Given the description of an element on the screen output the (x, y) to click on. 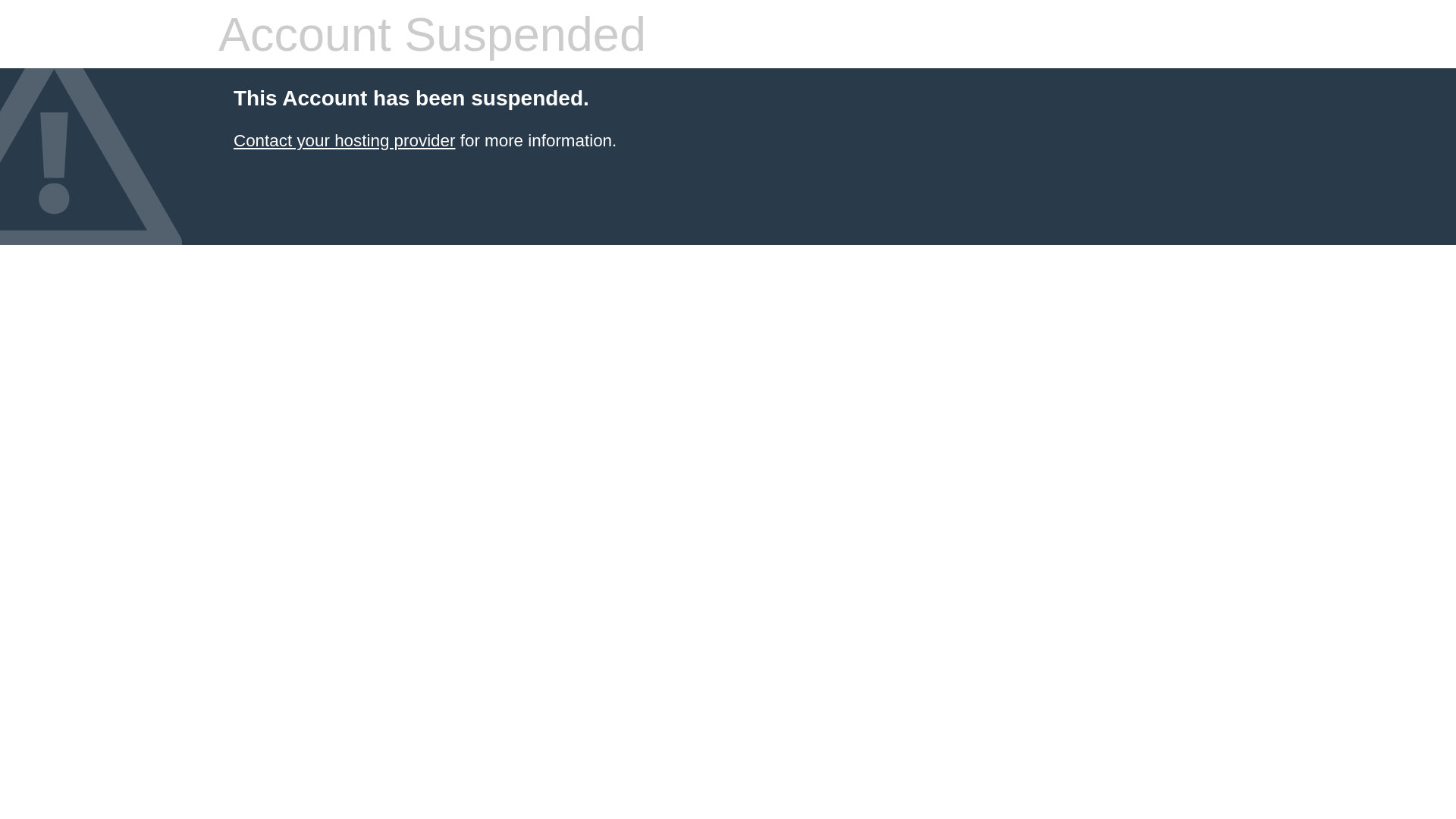
Contact your hosting provider Element type: text (344, 140)
